Given the description of an element on the screen output the (x, y) to click on. 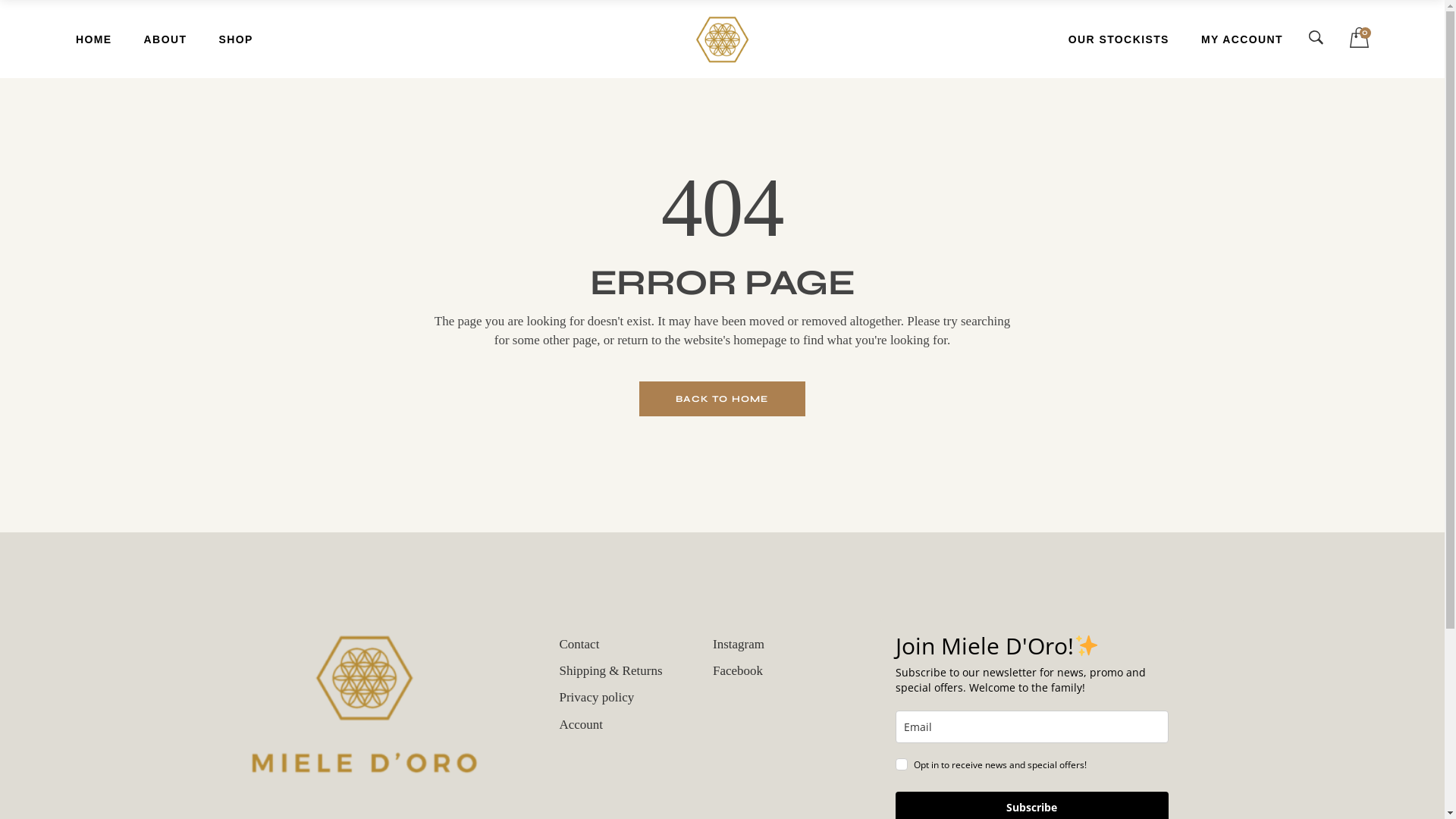
Shipping & Returns Element type: text (610, 670)
ABOUT Element type: text (165, 39)
SHOP Element type: text (235, 39)
0 Element type: text (1358, 37)
MY ACCOUNT Element type: text (1242, 39)
Privacy policy Element type: text (596, 697)
BACK TO HOME Element type: text (721, 398)
OUR STOCKISTS Element type: text (1118, 39)
HOME Element type: text (93, 39)
Instagram Element type: text (738, 644)
Contact Element type: text (579, 644)
Facebook Element type: text (737, 670)
Account Element type: text (581, 724)
